Given the description of an element on the screen output the (x, y) to click on. 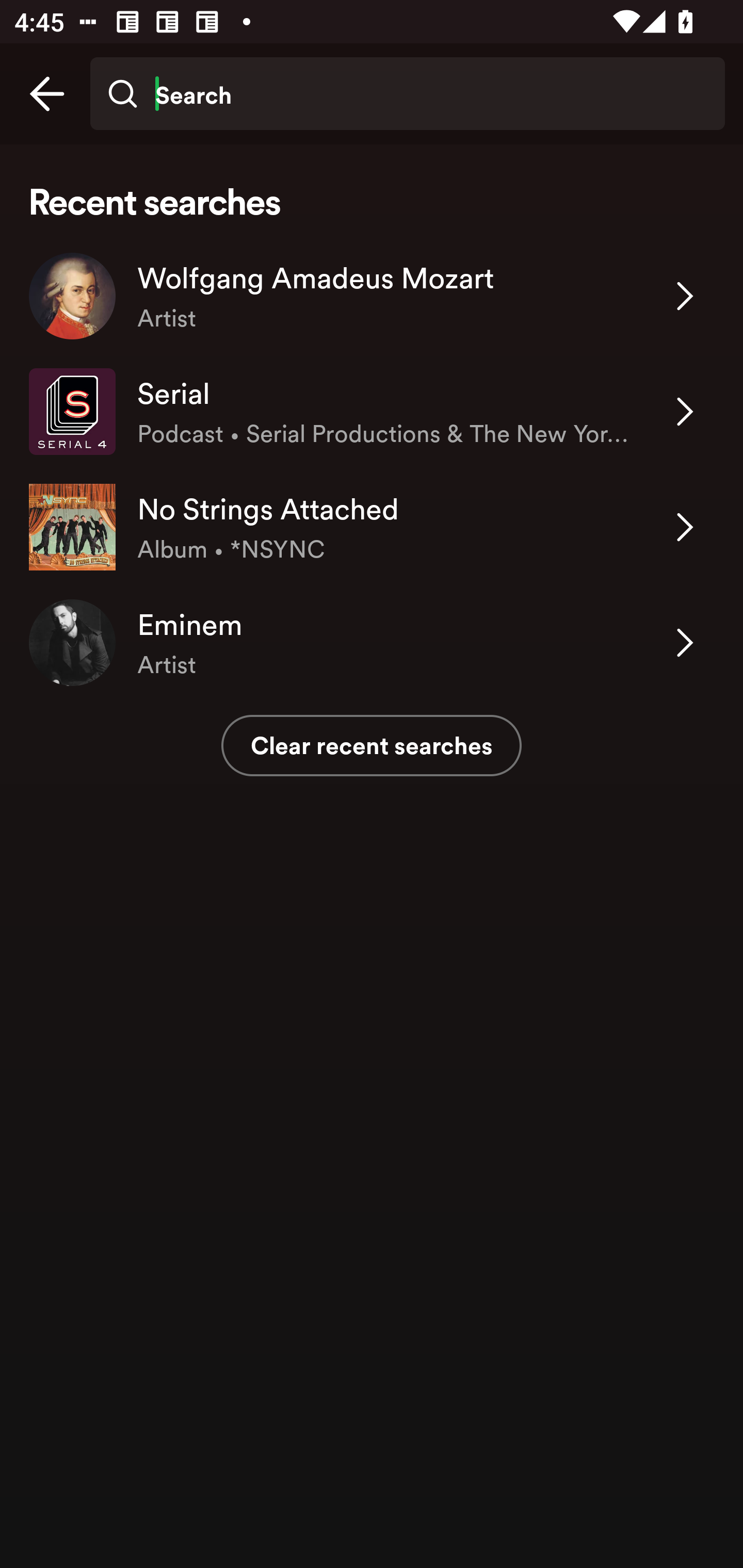
Back (46, 93)
Search (407, 94)
Wolfgang Amadeus Mozart Artist (371, 296)
No Strings Attached Album • *NSYNC (371, 526)
Eminem Artist (371, 642)
Clear recent searches (371, 745)
